Given the description of an element on the screen output the (x, y) to click on. 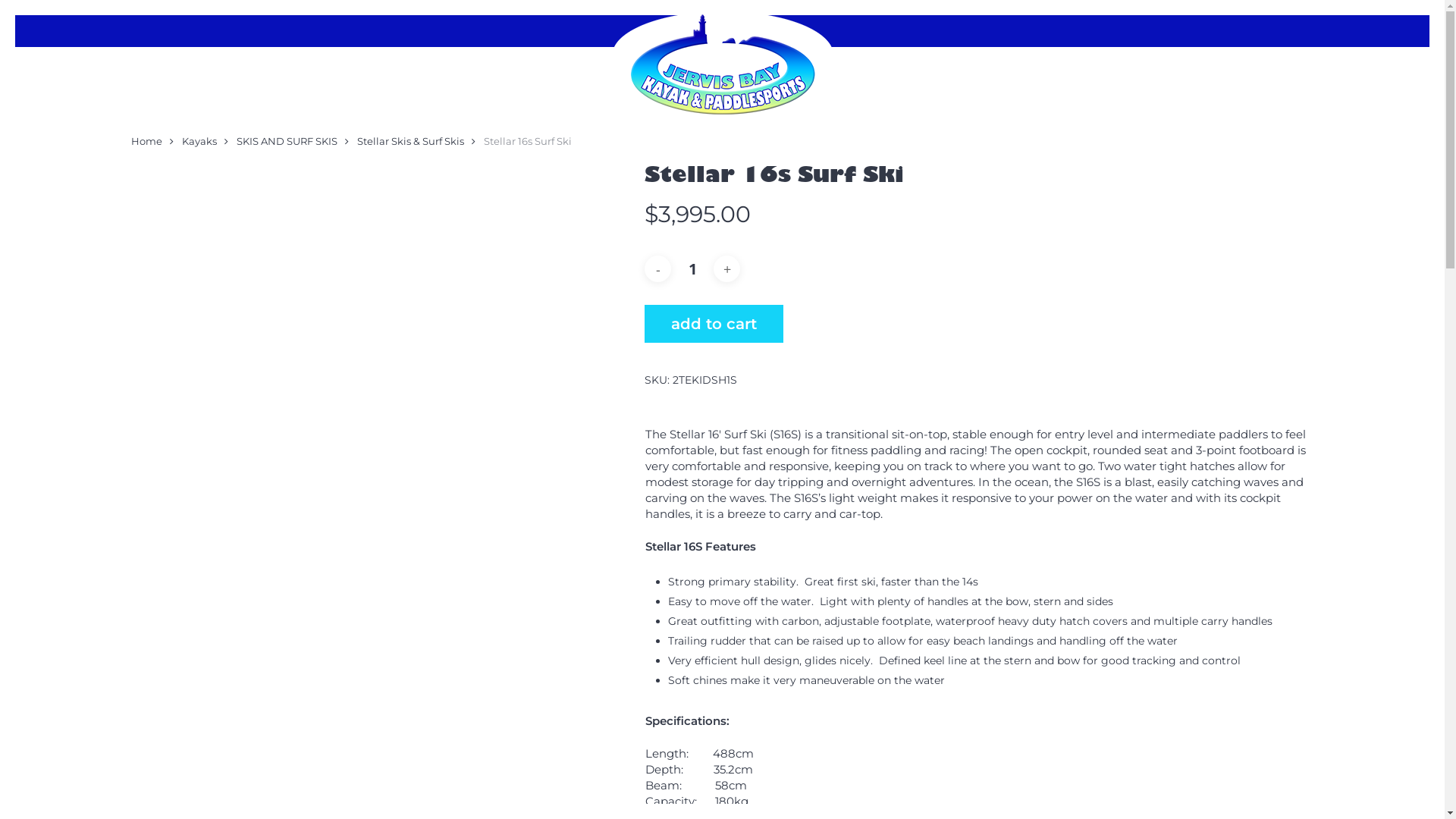
Home Element type: text (145, 140)
Kayaks Element type: text (199, 140)
Stellar Skis & Surf Skis Element type: text (409, 140)
SKIS AND SURF SKIS Element type: text (286, 140)
add to cart Element type: text (713, 323)
